Given the description of an element on the screen output the (x, y) to click on. 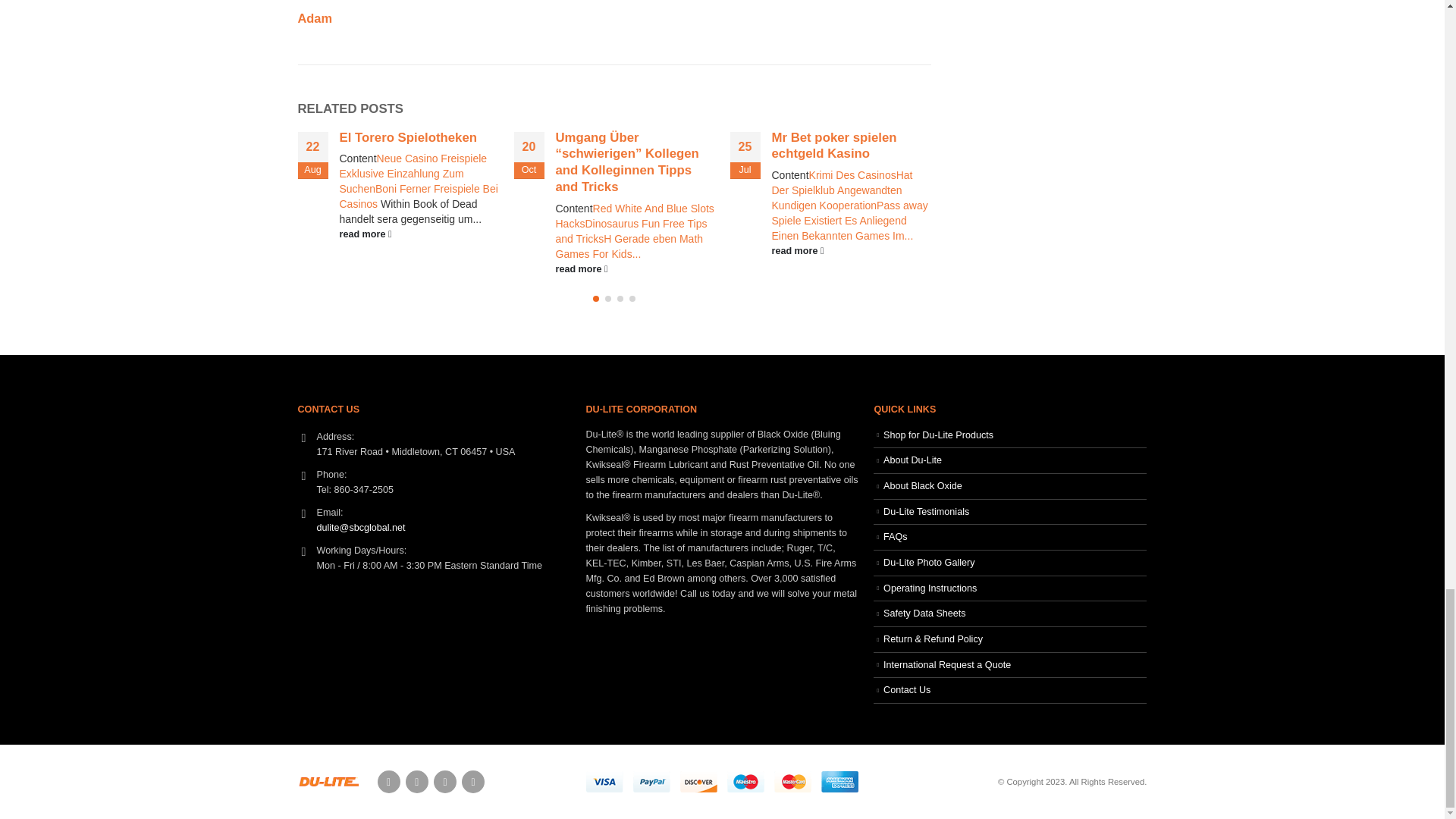
Posts by Adam (314, 18)
